Given the description of an element on the screen output the (x, y) to click on. 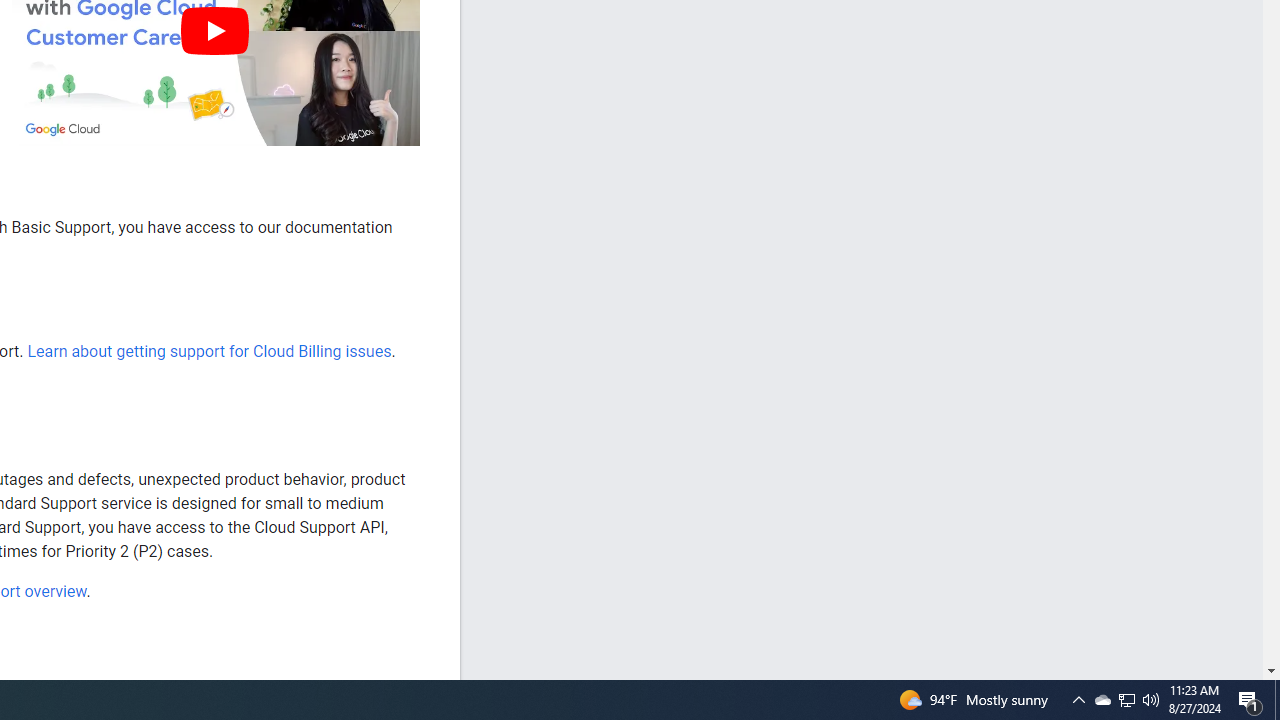
Play (214, 29)
Learn about getting support for Cloud Billing issues (208, 351)
